Given the description of an element on the screen output the (x, y) to click on. 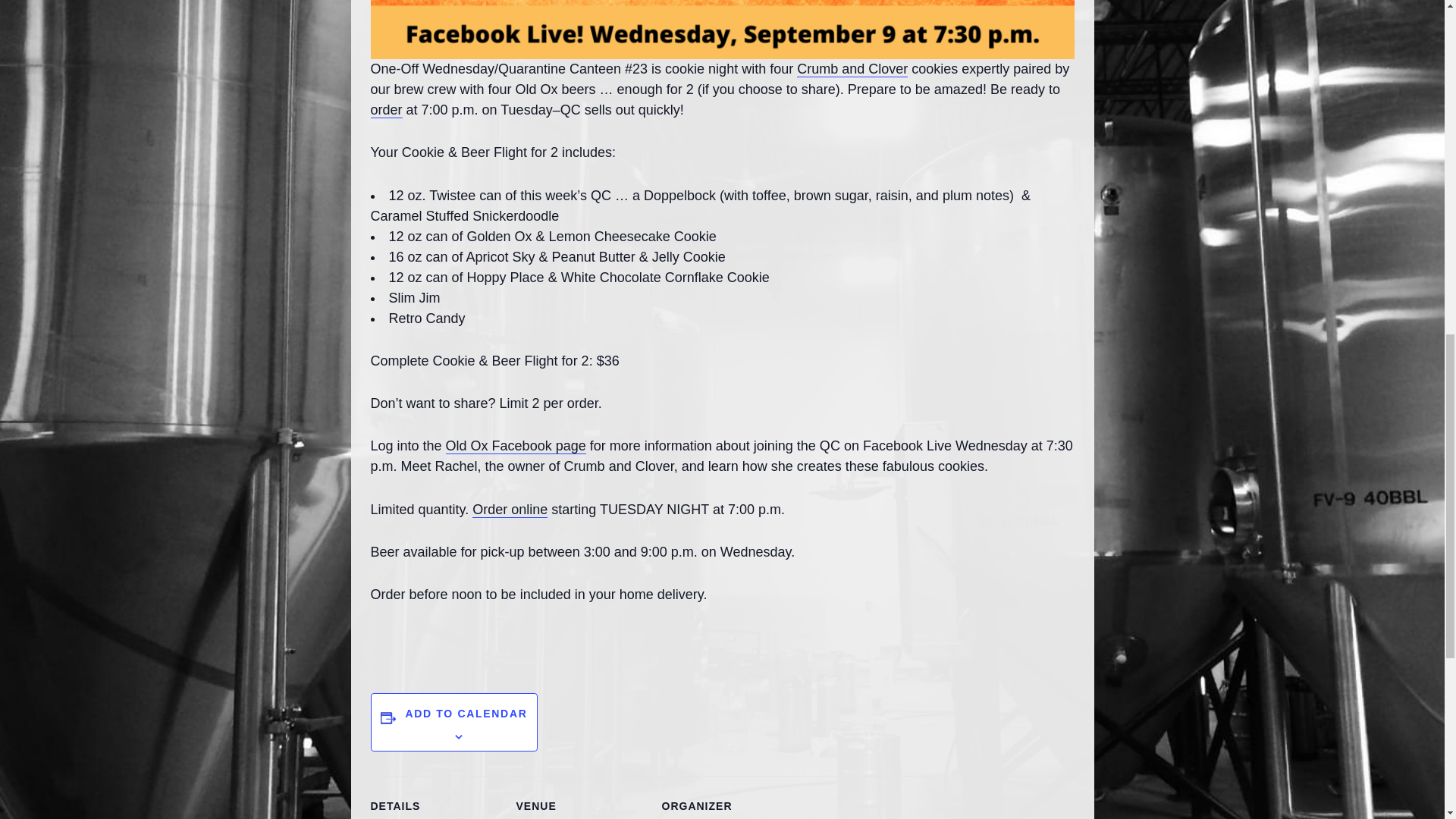
Old Ox Facebook page (515, 446)
Order online (509, 509)
order (385, 109)
ADD TO CALENDAR (465, 713)
Crumb and Clover (851, 68)
